Given the description of an element on the screen output the (x, y) to click on. 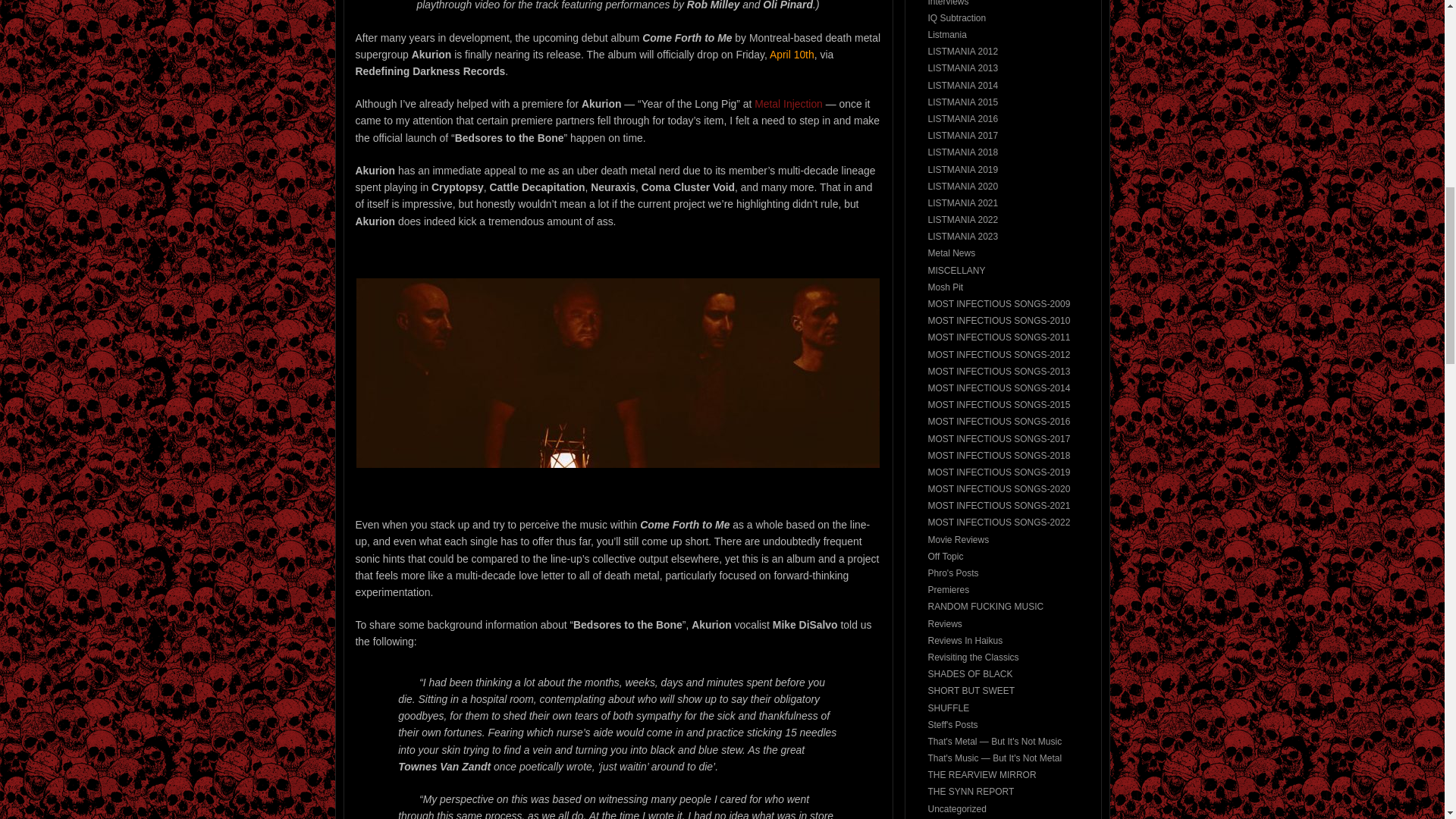
Metal Injection (788, 103)
